Given the description of an element on the screen output the (x, y) to click on. 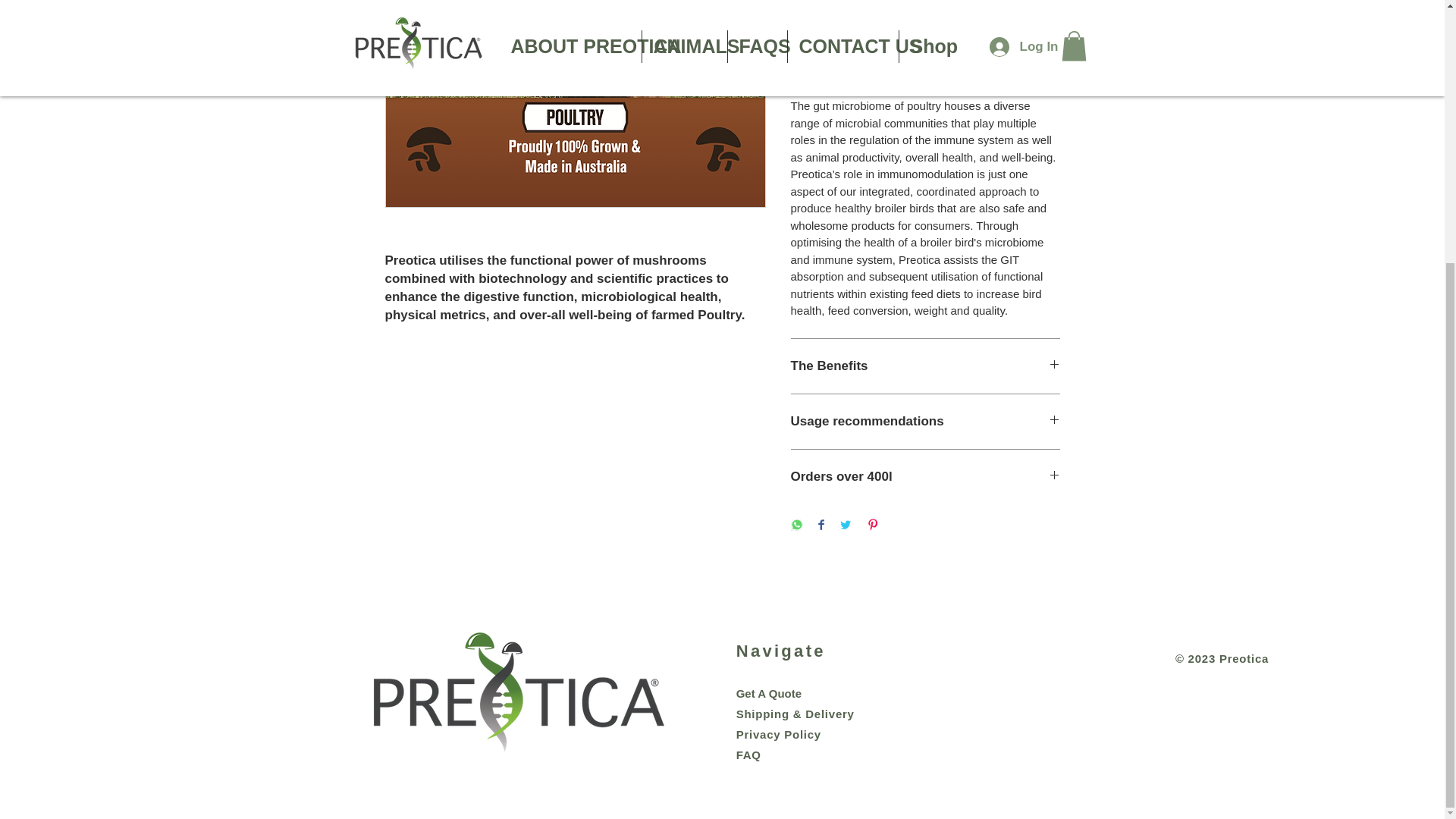
Usage recommendations (924, 421)
Privacy Policy (778, 734)
The Benefits (924, 366)
Product Info (924, 76)
Orders over 400l (924, 476)
Add to Cart (924, 15)
FAQ (778, 765)
Get A Quote (769, 693)
